Given the description of an element on the screen output the (x, y) to click on. 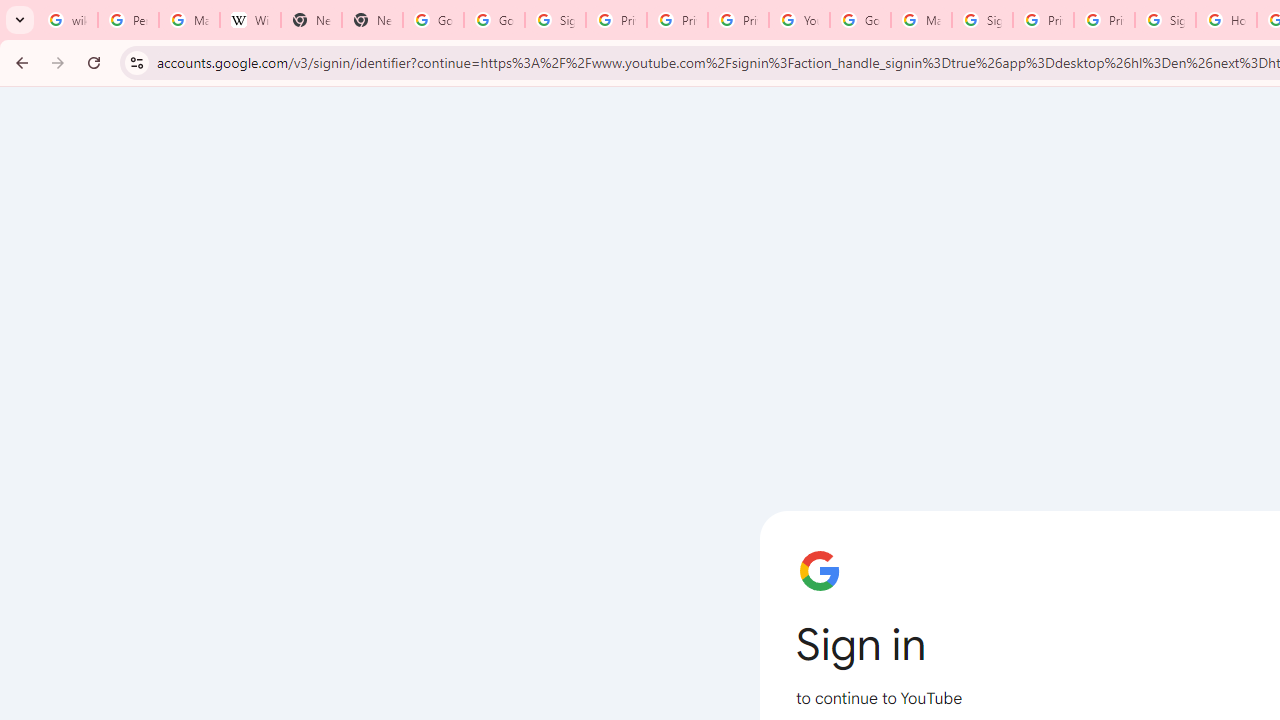
New Tab (372, 20)
Personalization & Google Search results - Google Search Help (128, 20)
Sign in - Google Accounts (555, 20)
New Tab (310, 20)
Google Drive: Sign-in (493, 20)
